Given the description of an element on the screen output the (x, y) to click on. 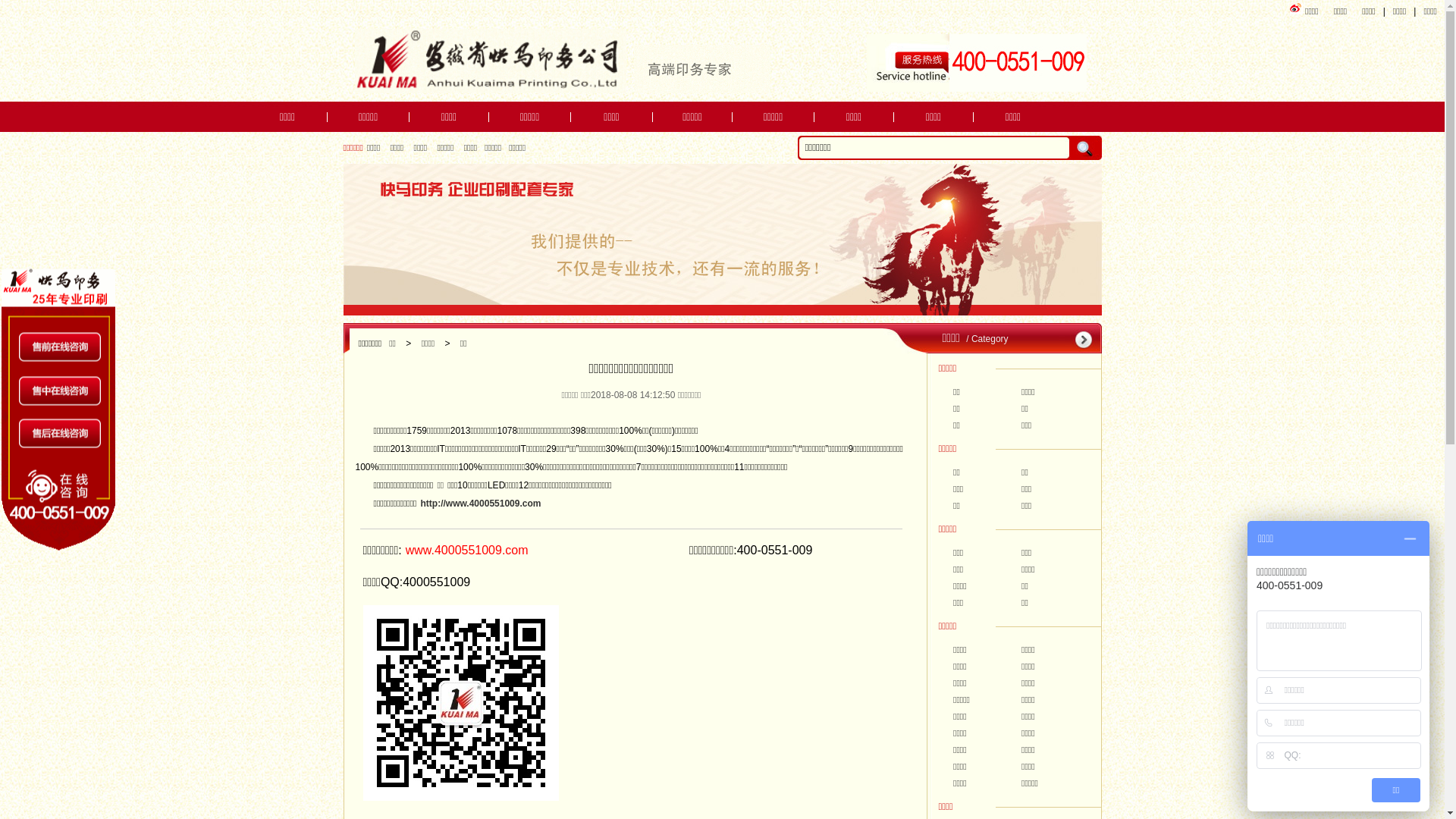
www.4000551009.com Element type: text (466, 549)
http://www.4000551009.com Element type: text (480, 503)
